Given the description of an element on the screen output the (x, y) to click on. 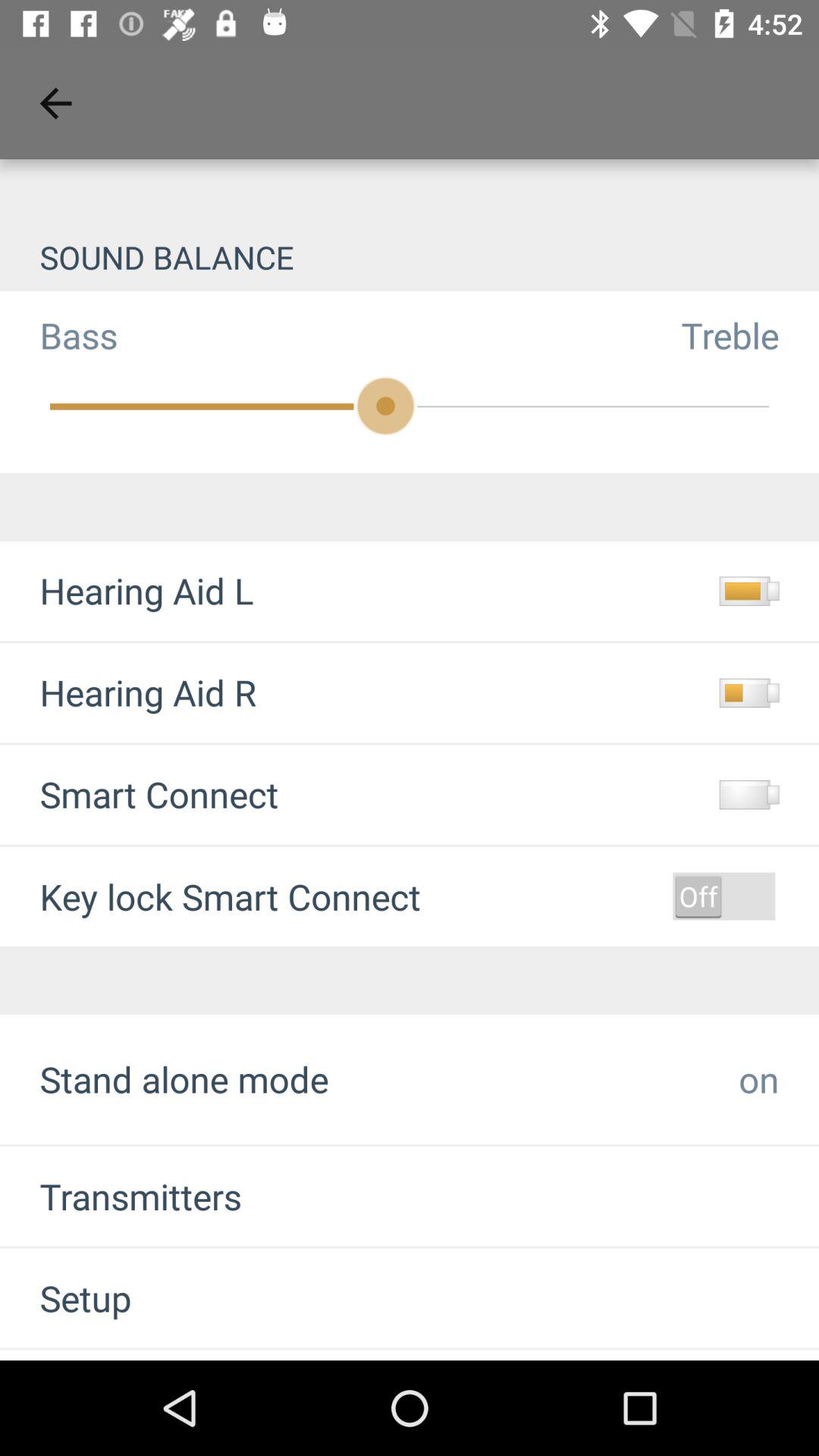
jump to the sound balance item (409, 256)
